Given the description of an element on the screen output the (x, y) to click on. 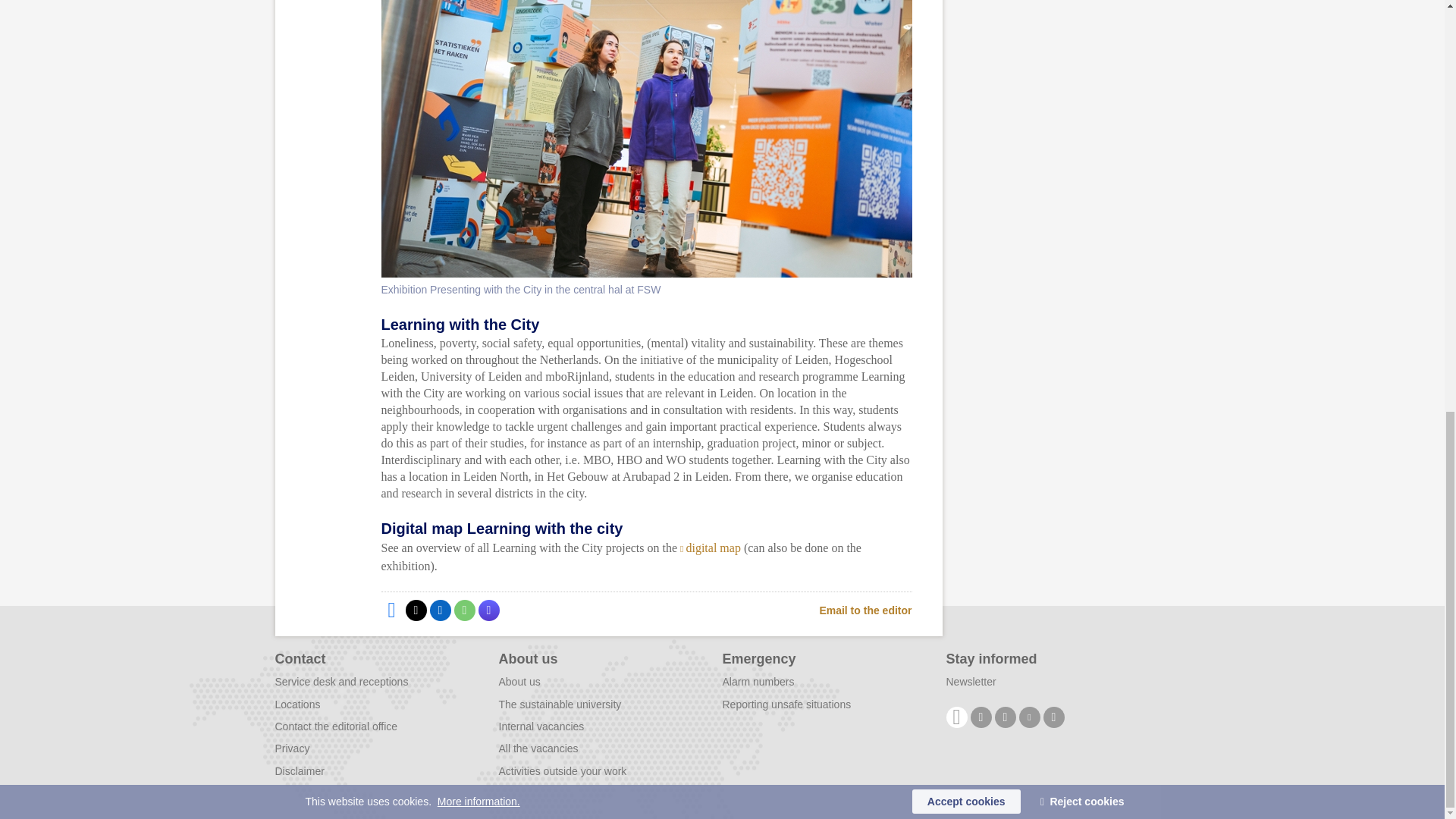
Share on Facebook (390, 609)
Share by WhatsApp (463, 609)
Share on X (415, 609)
Share by Mastodon (488, 609)
Share on LinkedIn (439, 609)
